Given the description of an element on the screen output the (x, y) to click on. 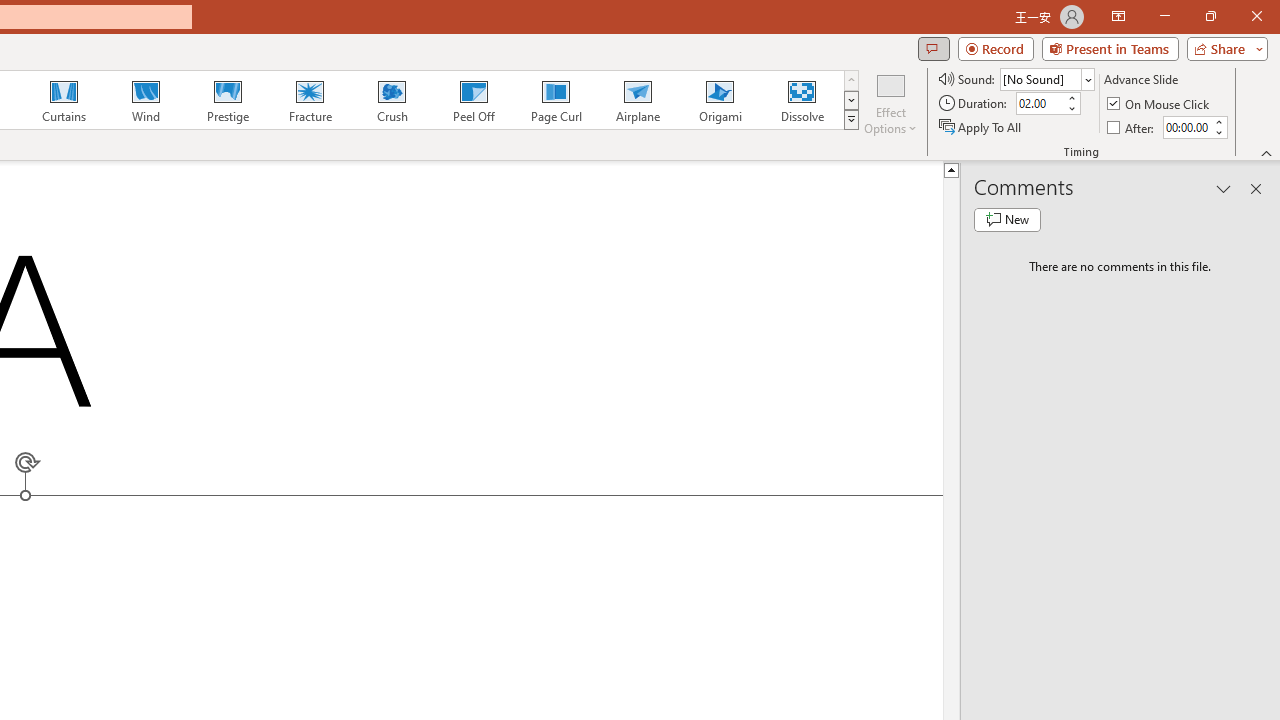
Airplane (637, 100)
On Mouse Click (1159, 103)
Curtains (63, 100)
Origami (719, 100)
Dissolve (802, 100)
